Given the description of an element on the screen output the (x, y) to click on. 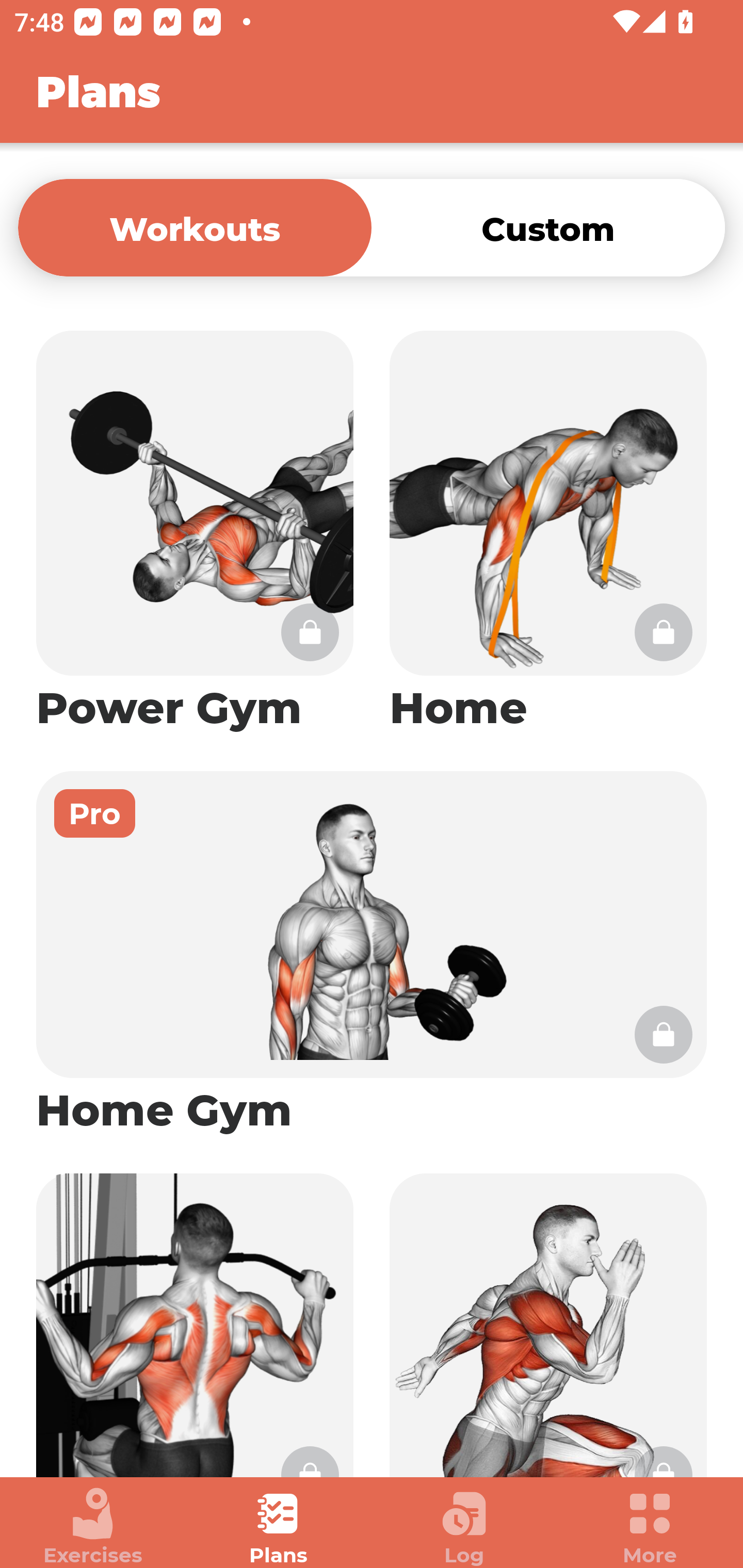
Workouts (194, 226)
Custom (548, 226)
Power Gym (194, 532)
Home (548, 532)
Pro Home Gym (371, 953)
Exercises (92, 1527)
Plans (278, 1527)
Log (464, 1527)
More (650, 1527)
